Given the description of an element on the screen output the (x, y) to click on. 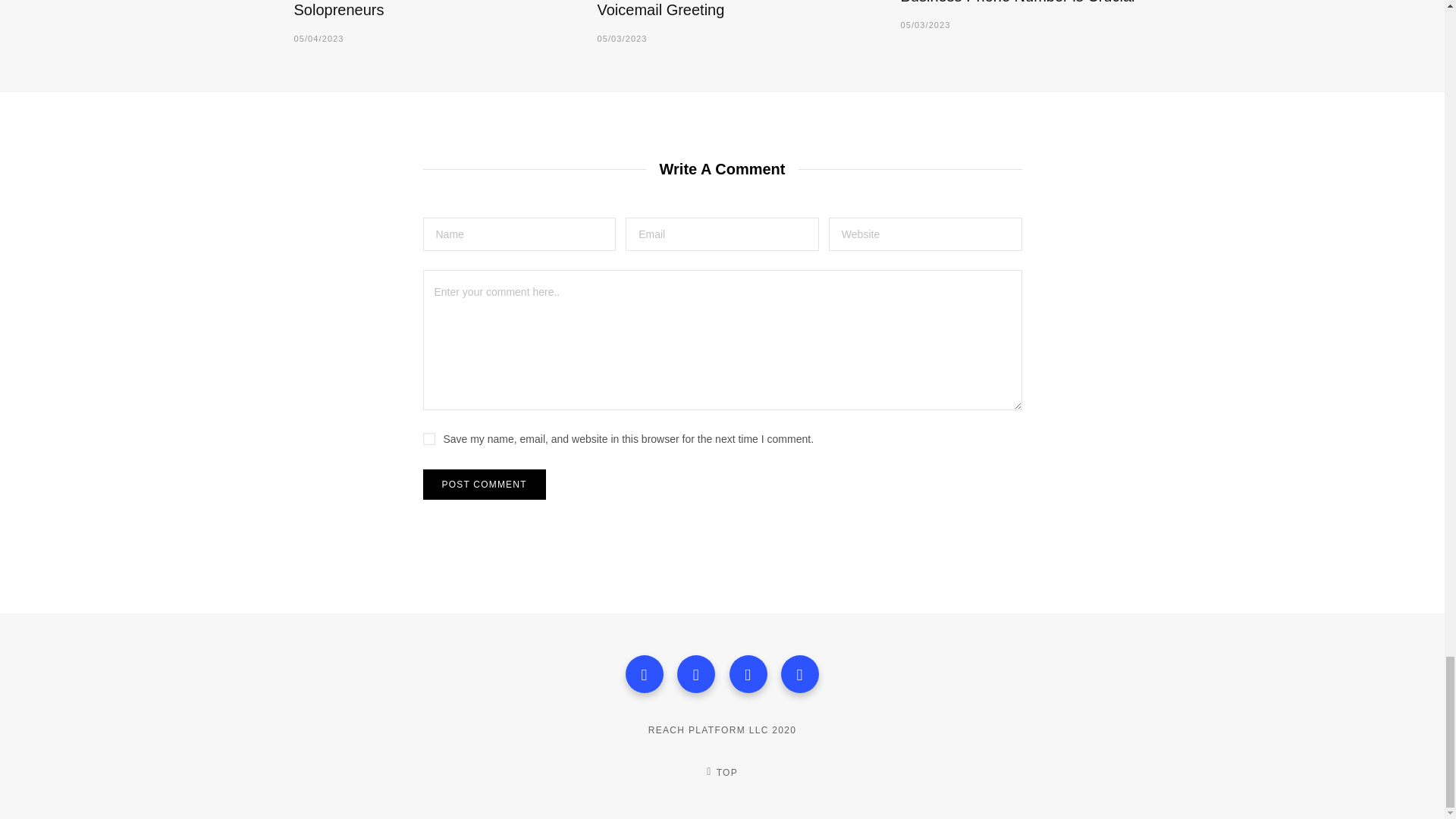
Post Comment (484, 484)
A Powerful Business Phone for Solopreneurs (398, 9)
Ideas for a Professional Business Voicemail Greeting (709, 9)
Post Comment (484, 484)
TOP (721, 772)
yes (429, 439)
